Given the description of an element on the screen output the (x, y) to click on. 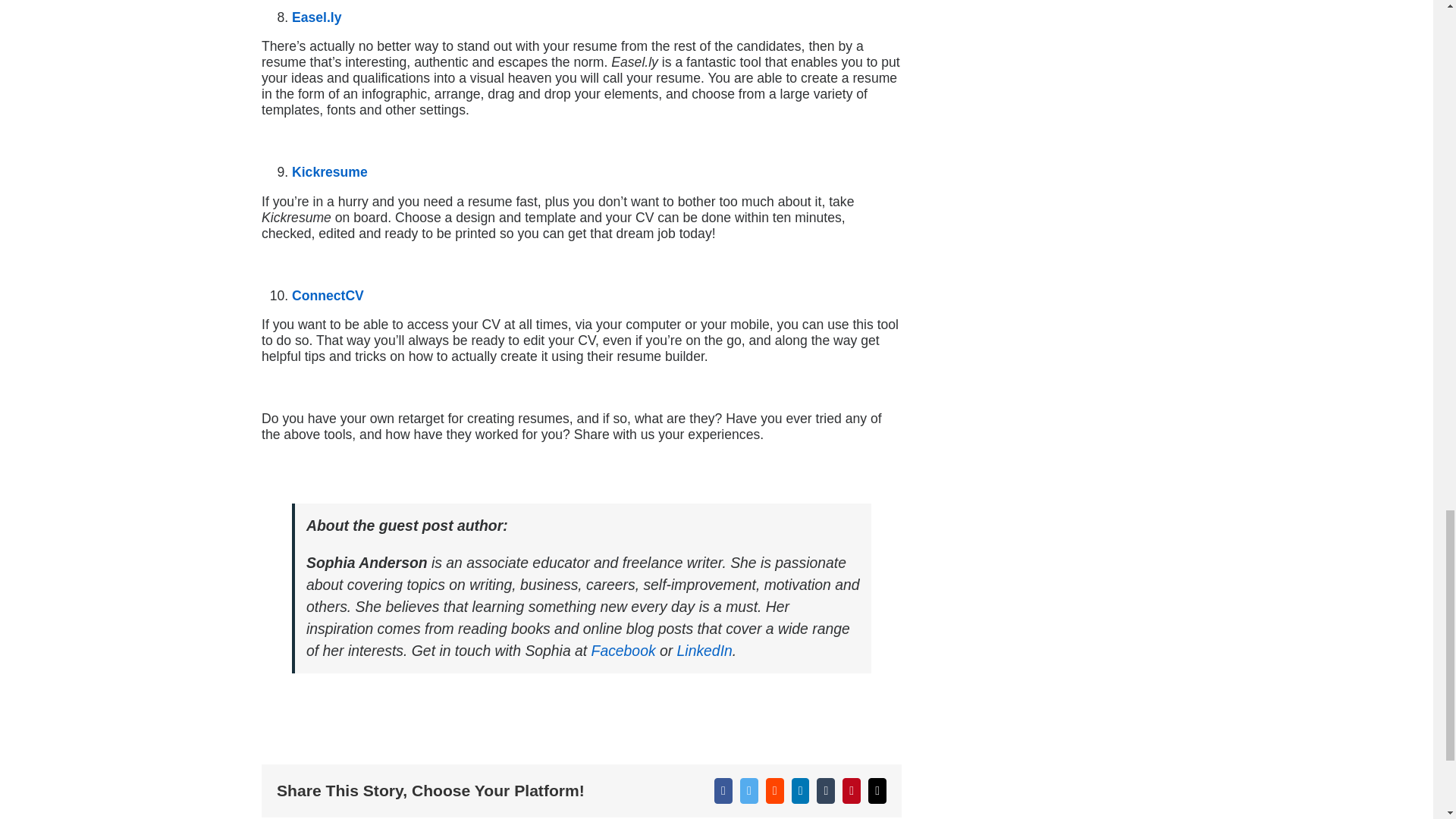
Easel.ly (317, 17)
ConnectCV (328, 295)
Facebook (623, 650)
Kickresume (330, 171)
LinkedIn (704, 650)
